Given the description of an element on the screen output the (x, y) to click on. 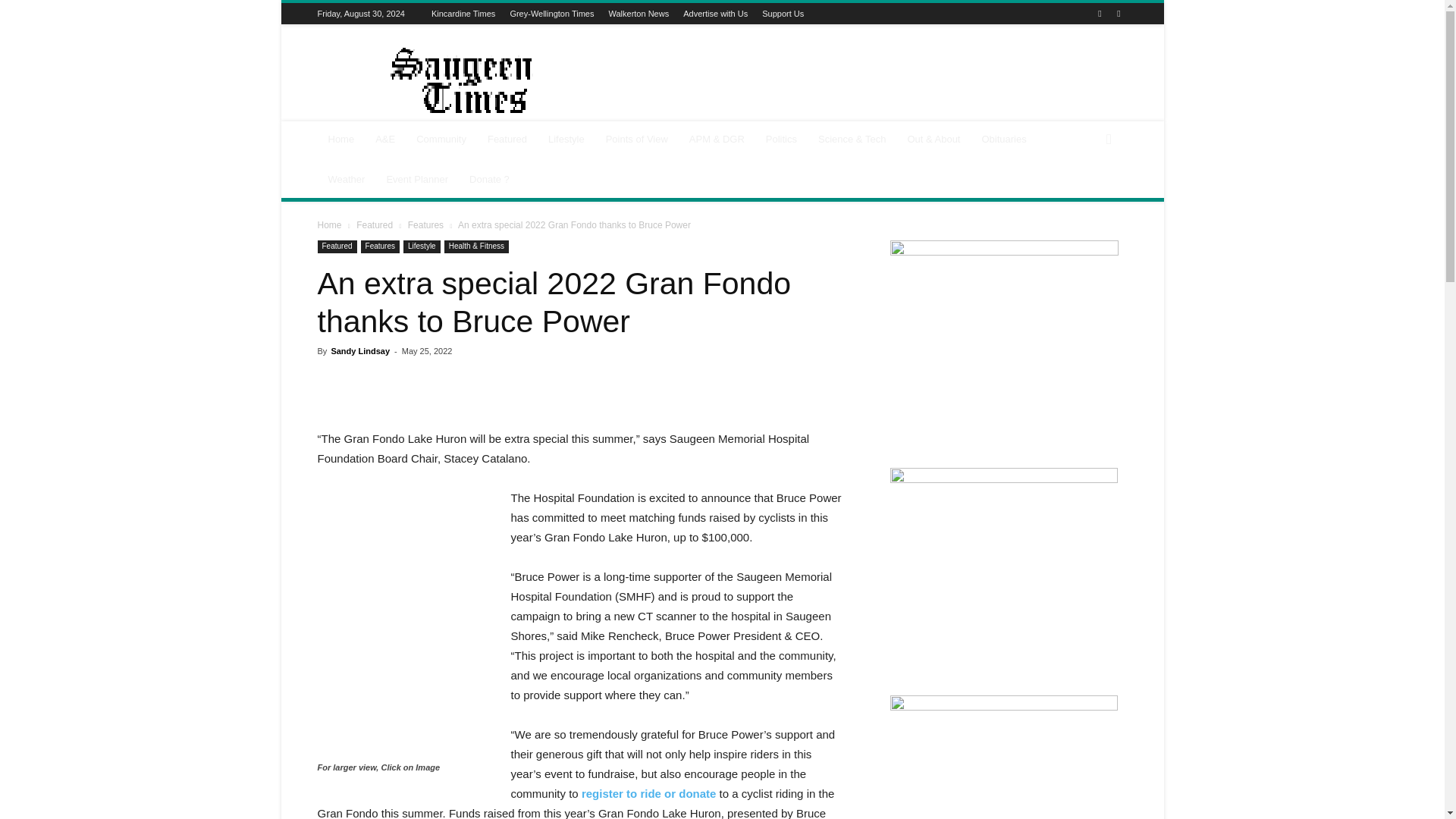
View all posts in Featured (374, 225)
View all posts in Features (425, 225)
Saugeen Times (445, 79)
